Given the description of an element on the screen output the (x, y) to click on. 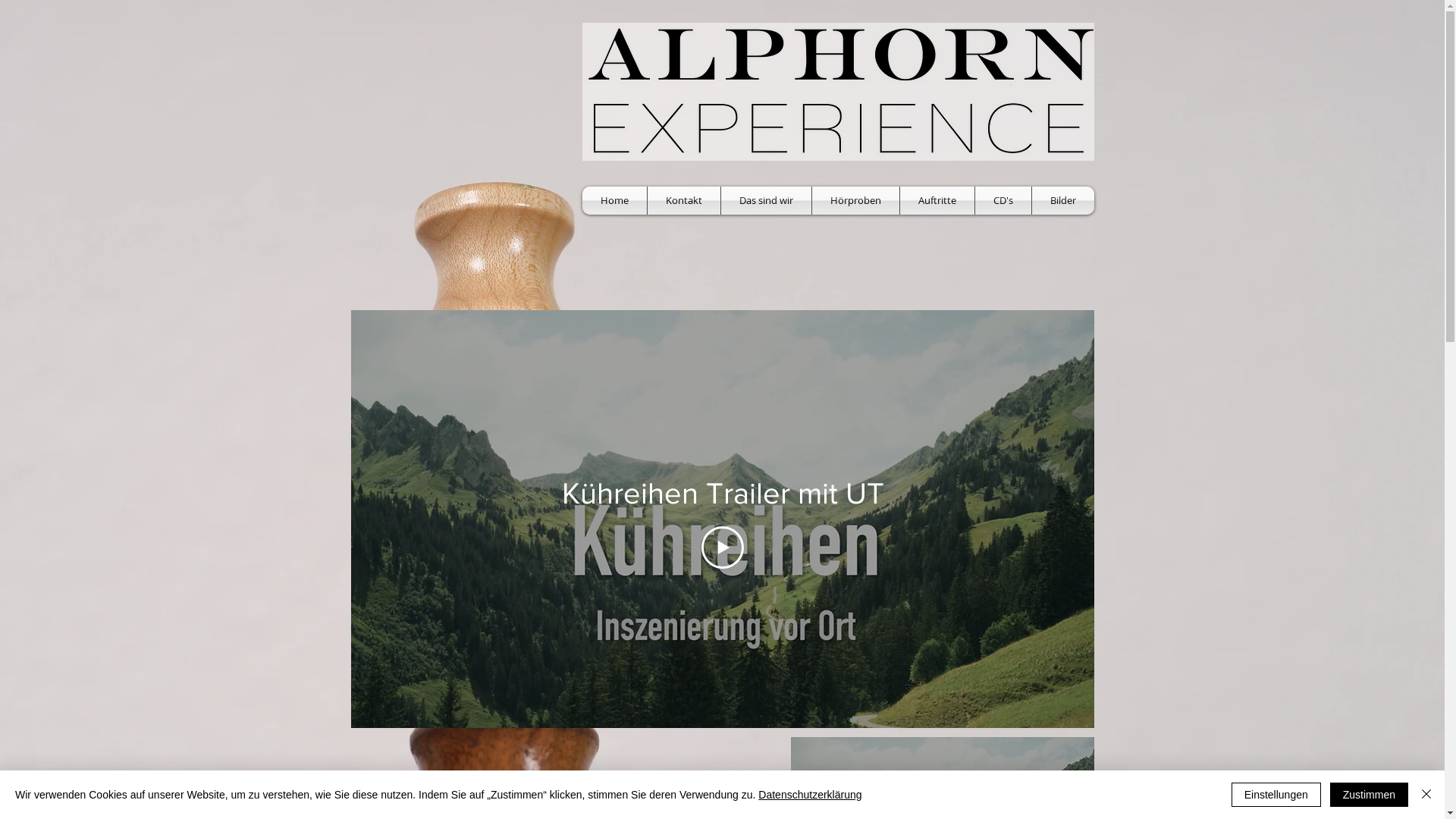
CD's Element type: text (1003, 200)
Kontakt Element type: text (683, 200)
Logo Alphorn Experience Element type: hover (838, 91)
Auftritte Element type: text (936, 200)
Einstellungen Element type: text (1276, 794)
Das sind wir Element type: text (765, 200)
Home Element type: text (614, 200)
Bilder Element type: text (1062, 200)
Zustimmen Element type: text (1369, 794)
